Given the description of an element on the screen output the (x, y) to click on. 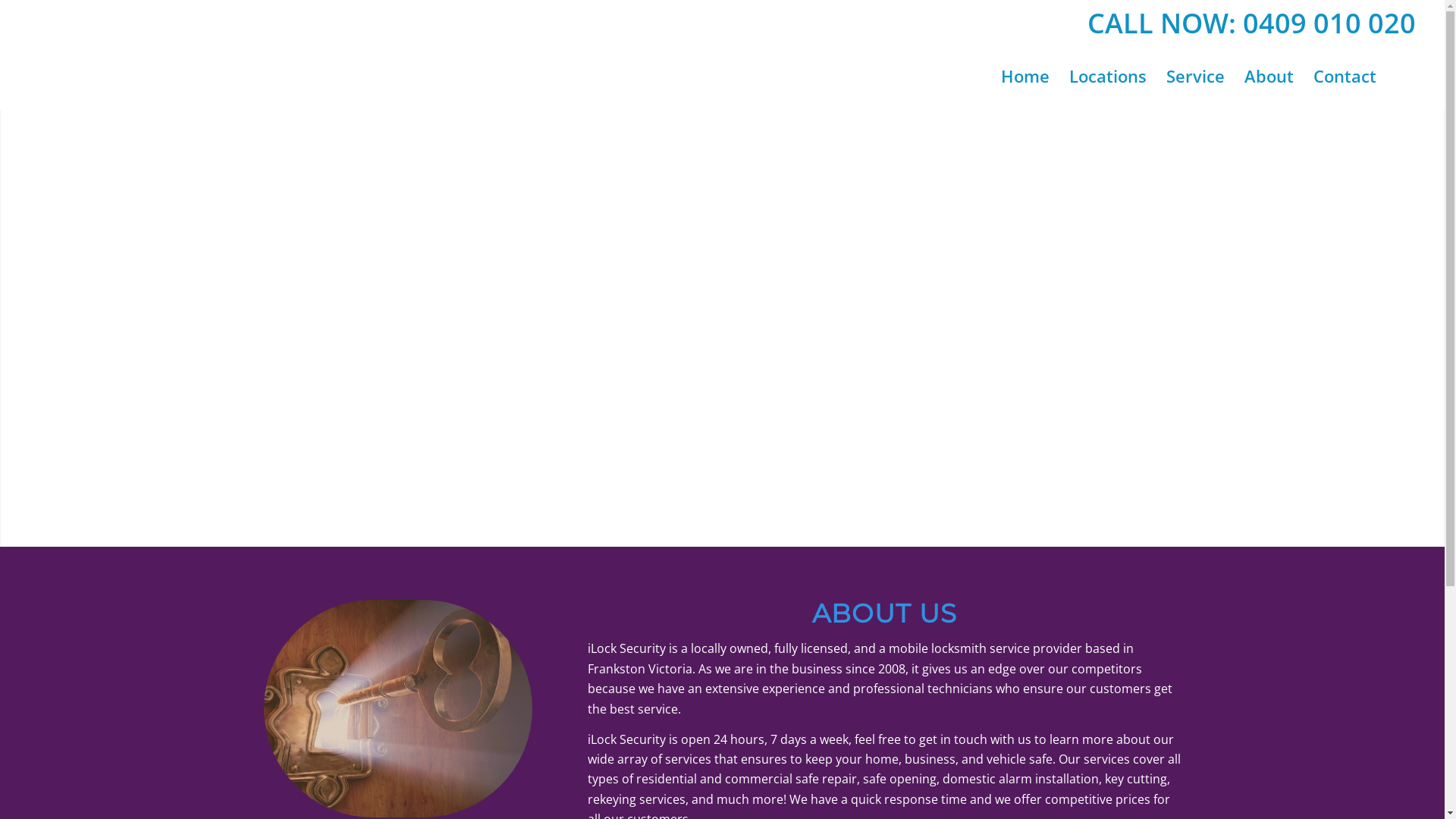
Service Element type: text (1195, 75)
Home Element type: text (1025, 75)
CALL NOW: 0409 010 020 Element type: text (1251, 22)
Contact Element type: text (1344, 75)
Locations Element type: text (1107, 75)
189675 Element type: hover (398, 708)
About Element type: text (1268, 75)
